Given the description of an element on the screen output the (x, y) to click on. 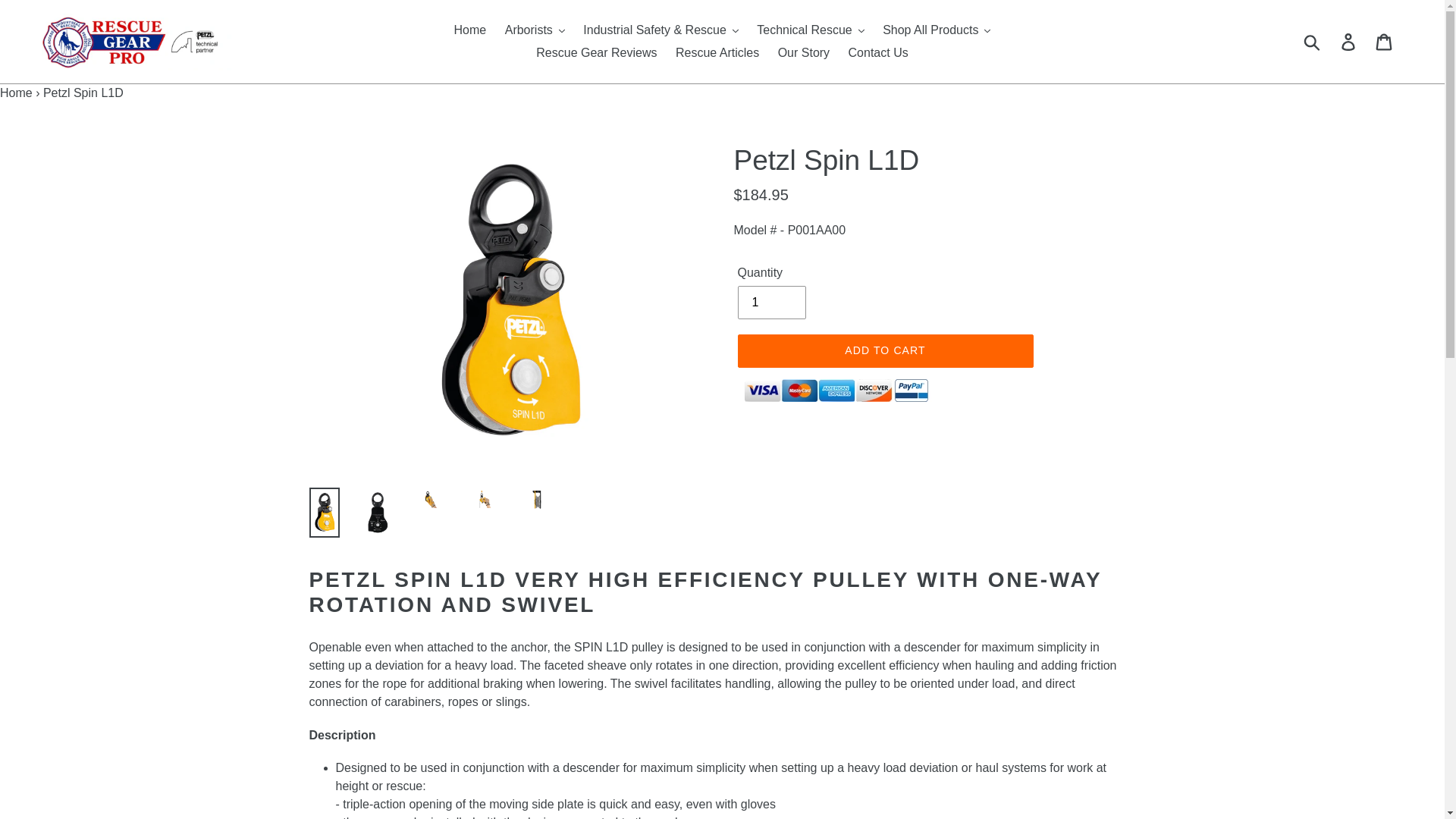
Home (470, 29)
Home (16, 92)
1 (770, 302)
